Given the description of an element on the screen output the (x, y) to click on. 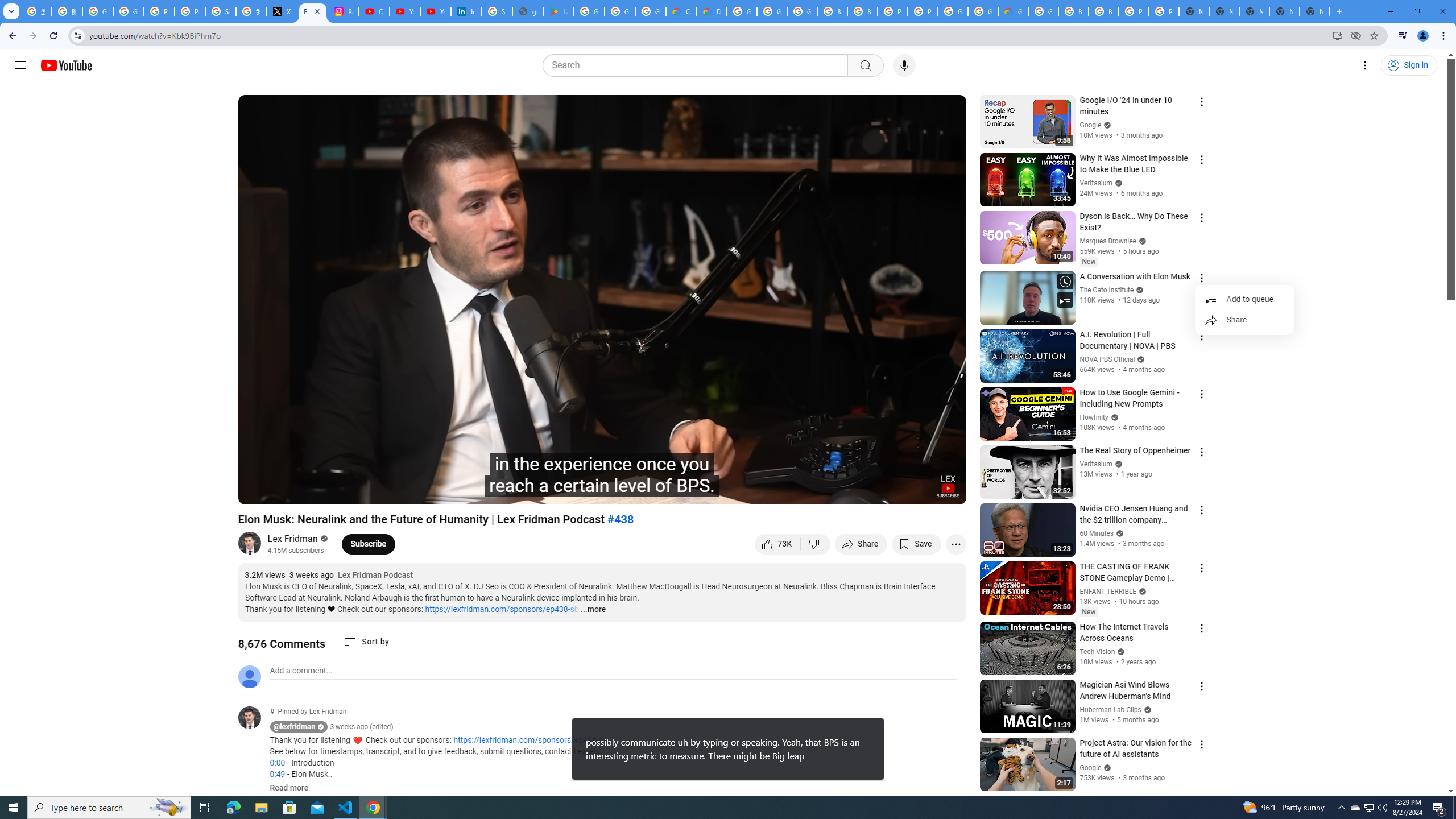
Control your music, videos, and more (1402, 35)
Settings (863, 490)
Theater mode (t) (917, 490)
YouTube Home (66, 65)
Customer Care | Google Cloud (681, 11)
YouTube Culture & Trends - YouTube Top 10, 2021 (434, 11)
0:00 (277, 763)
Search with your voice (903, 65)
Add to queue (1243, 299)
Full screen (f) (945, 490)
Subscribe to Lex Fridman. (368, 543)
3 weeks ago (edited) (361, 726)
